Given the description of an element on the screen output the (x, y) to click on. 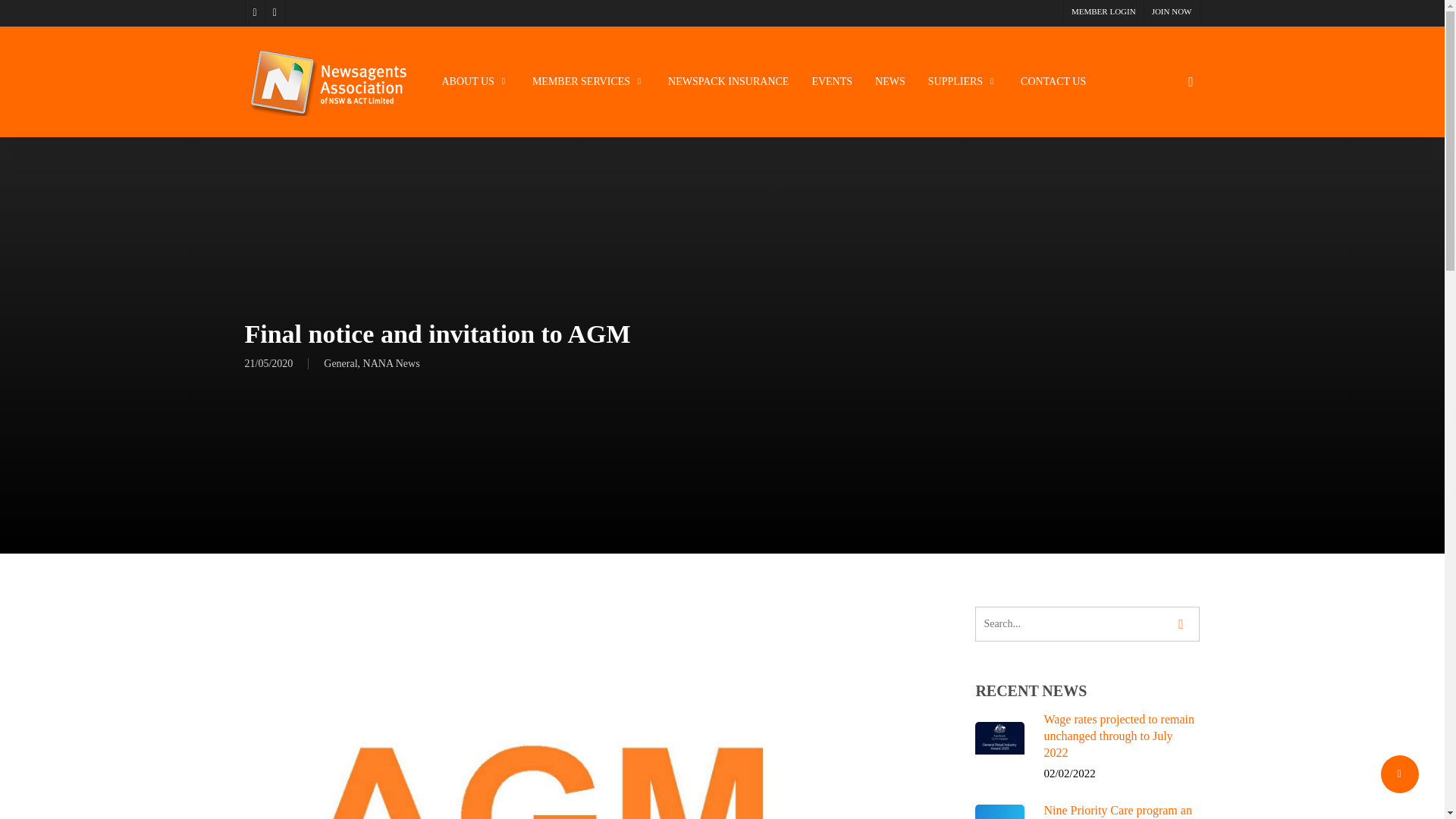
Search for: (1087, 623)
MEMBER LOGIN (1102, 11)
JOIN NOW (1170, 11)
MEMBER SERVICES (588, 81)
FACEBOOK (253, 12)
LINKEDIN (273, 12)
ABOUT US (474, 81)
